Given the description of an element on the screen output the (x, y) to click on. 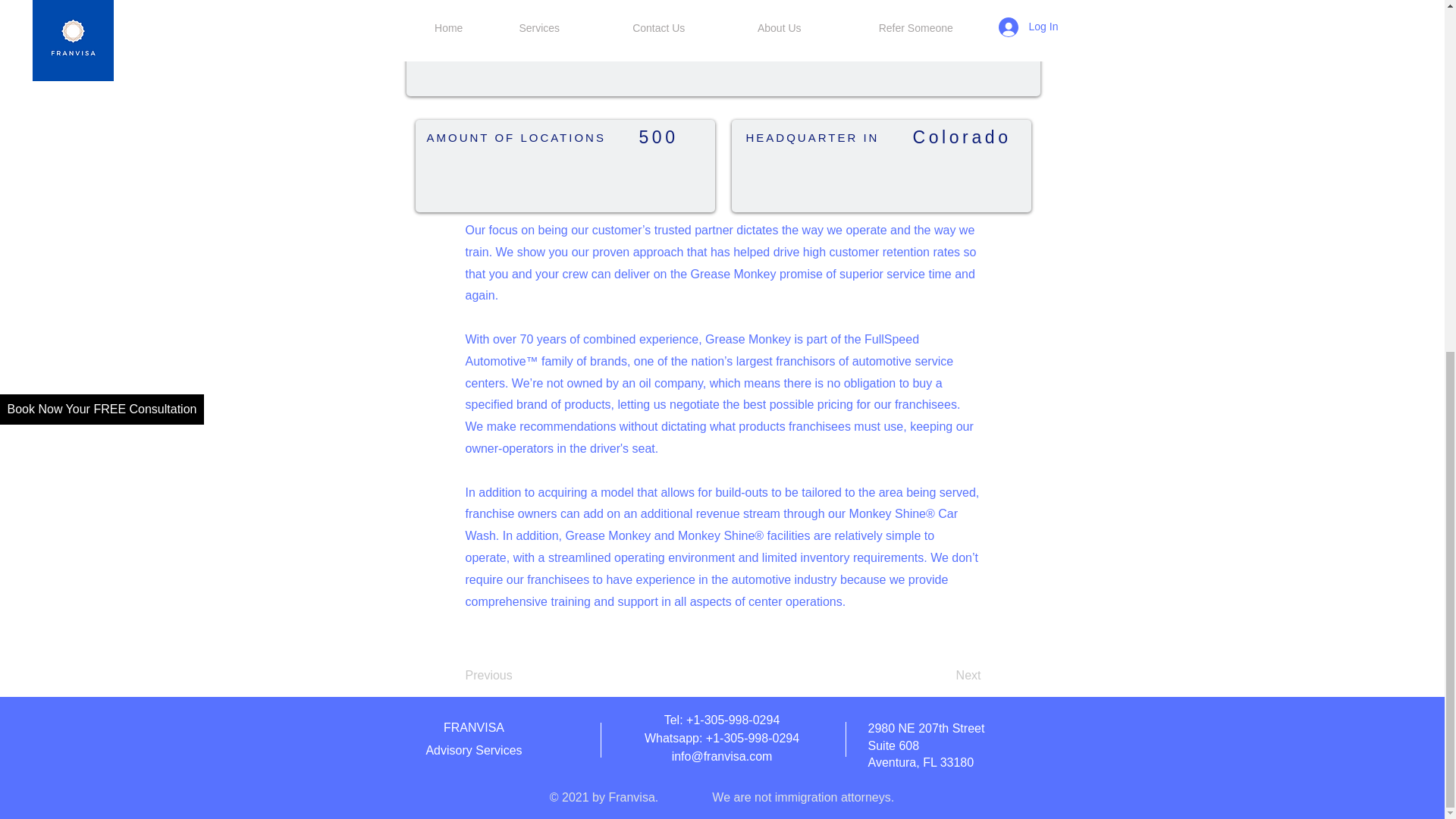
Previous (515, 675)
Next (943, 675)
